Given the description of an element on the screen output the (x, y) to click on. 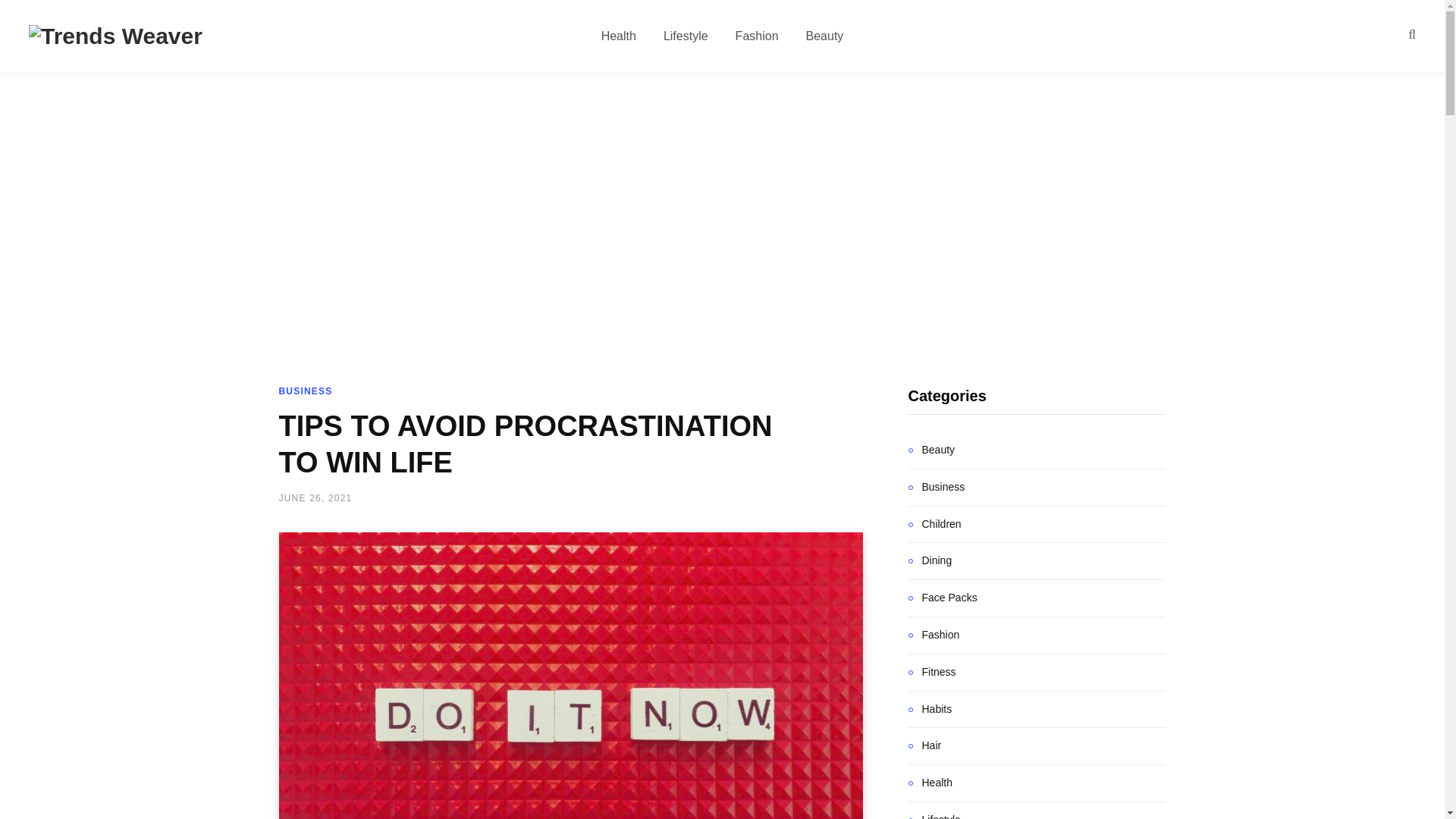
Fashion (757, 36)
Beauty (824, 36)
JUNE 26, 2021 (315, 498)
Lifestyle (685, 36)
Trends Weaver (115, 36)
BUSINESS (306, 390)
